Given the description of an element on the screen output the (x, y) to click on. 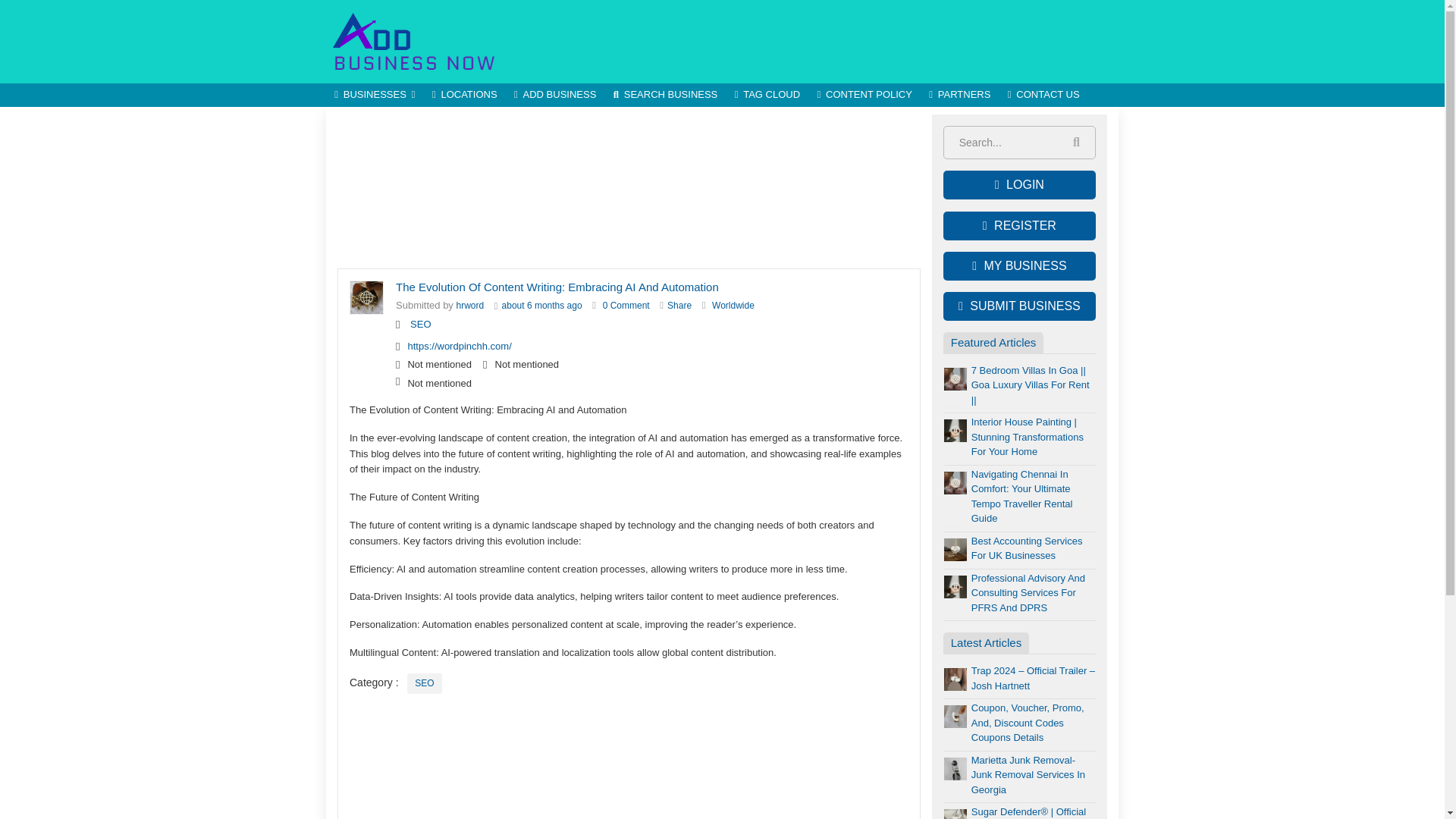
REGISTER (1019, 225)
LOCATIONS (464, 95)
CONTACT US (1042, 95)
Advertisement (842, 41)
BUSINESSES (374, 95)
SEO (420, 324)
Wordpinchh (470, 305)
SUBMIT BUSINESS (1019, 306)
SEO (420, 324)
Share (678, 305)
Worldwide (732, 305)
Advertisement (628, 187)
hrword (470, 305)
MY BUSINESS (1019, 265)
